Given the description of an element on the screen output the (x, y) to click on. 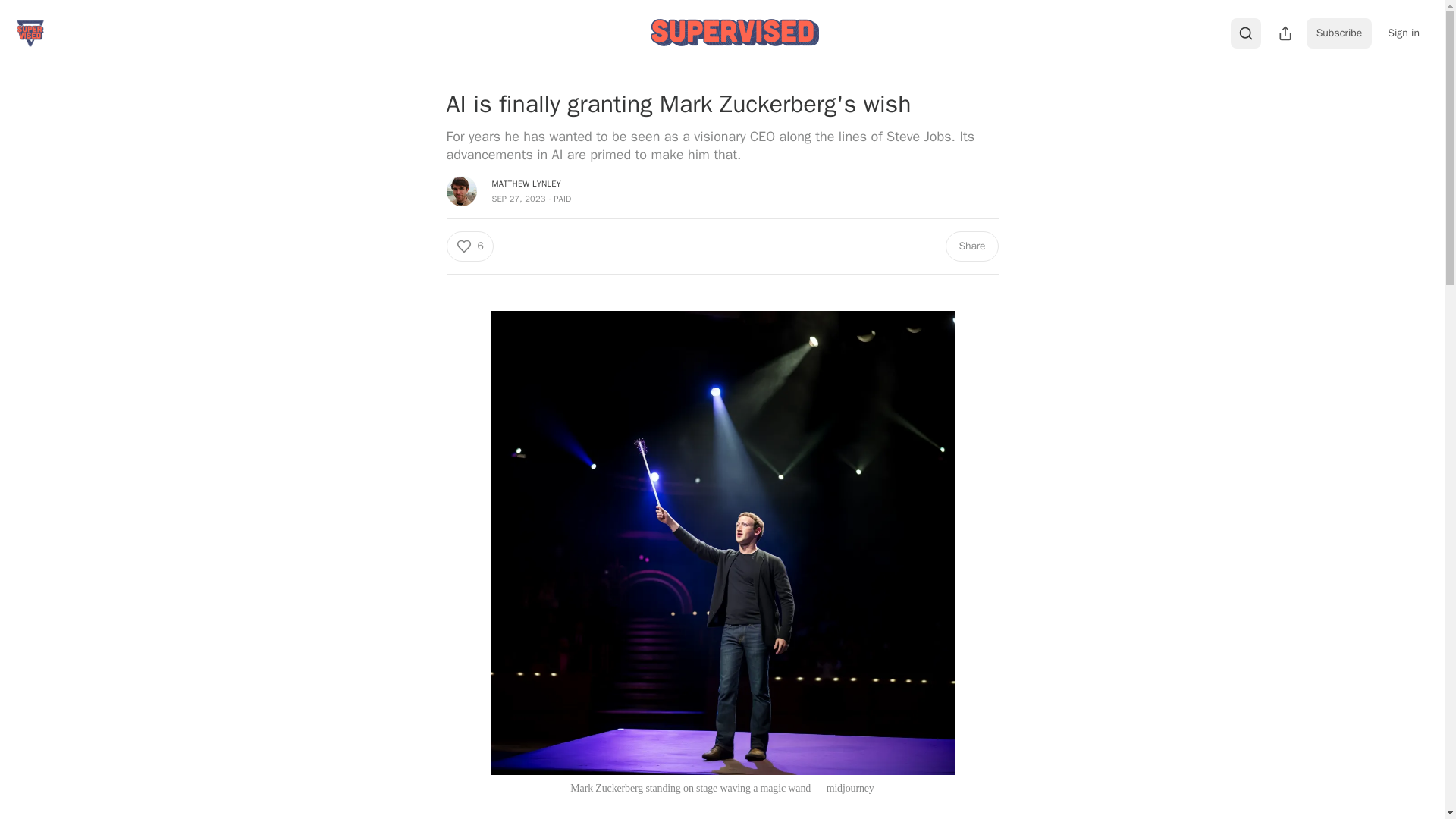
Share (970, 245)
Sign in (1403, 33)
Subscribe (1339, 33)
6 (469, 245)
MATTHEW LYNLEY (526, 183)
